Given the description of an element on the screen output the (x, y) to click on. 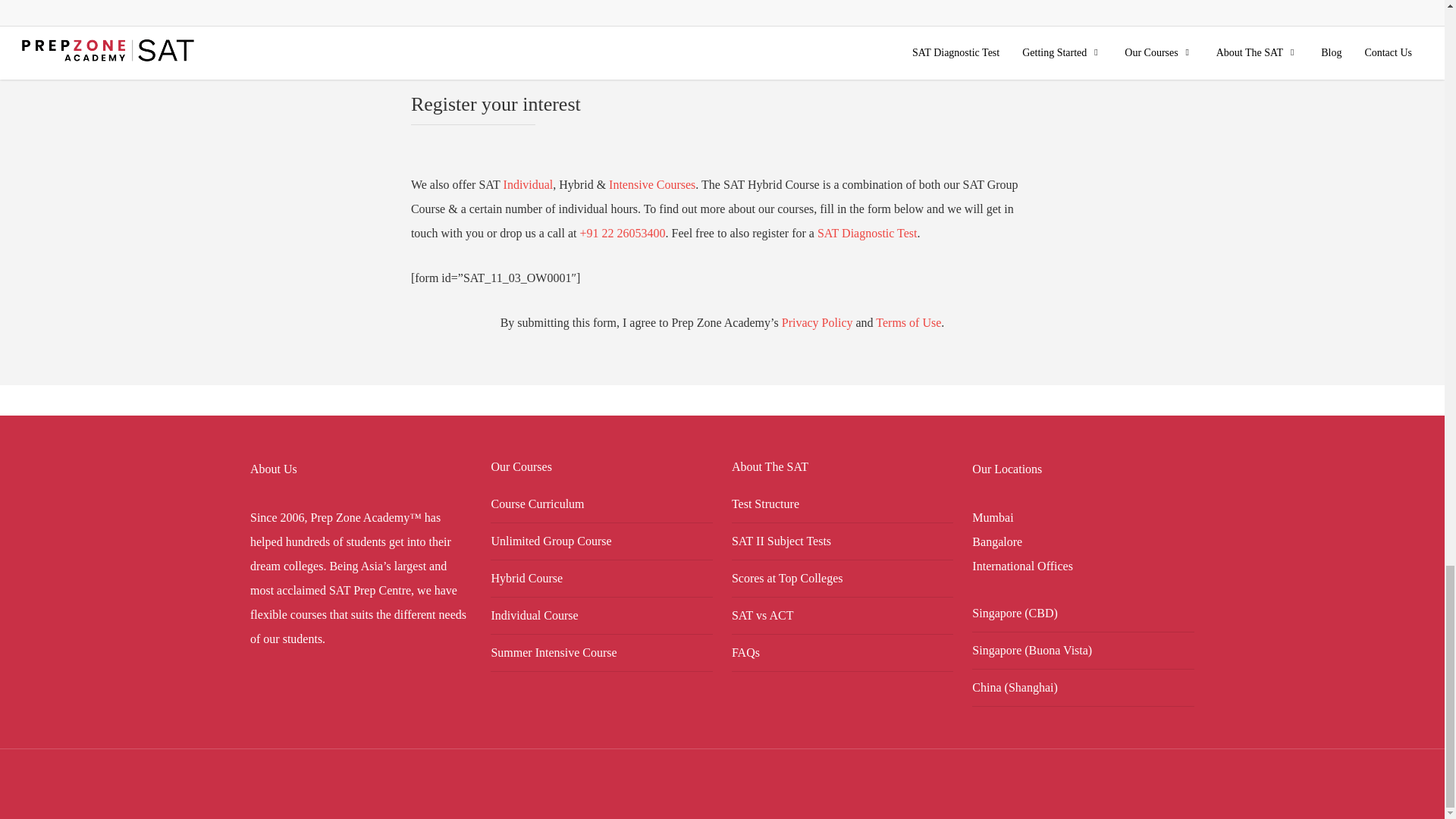
Terms of Use (908, 322)
SAT Diagnostic Test (866, 232)
Summer Intensive Course (601, 652)
Hybrid Course (601, 578)
Individual Course (601, 615)
Unlimited Group Course (601, 541)
Intensive Courses (651, 184)
SAT vs ACT (842, 615)
SAT II Subject Tests (842, 541)
Privacy Policy (817, 322)
